Given the description of an element on the screen output the (x, y) to click on. 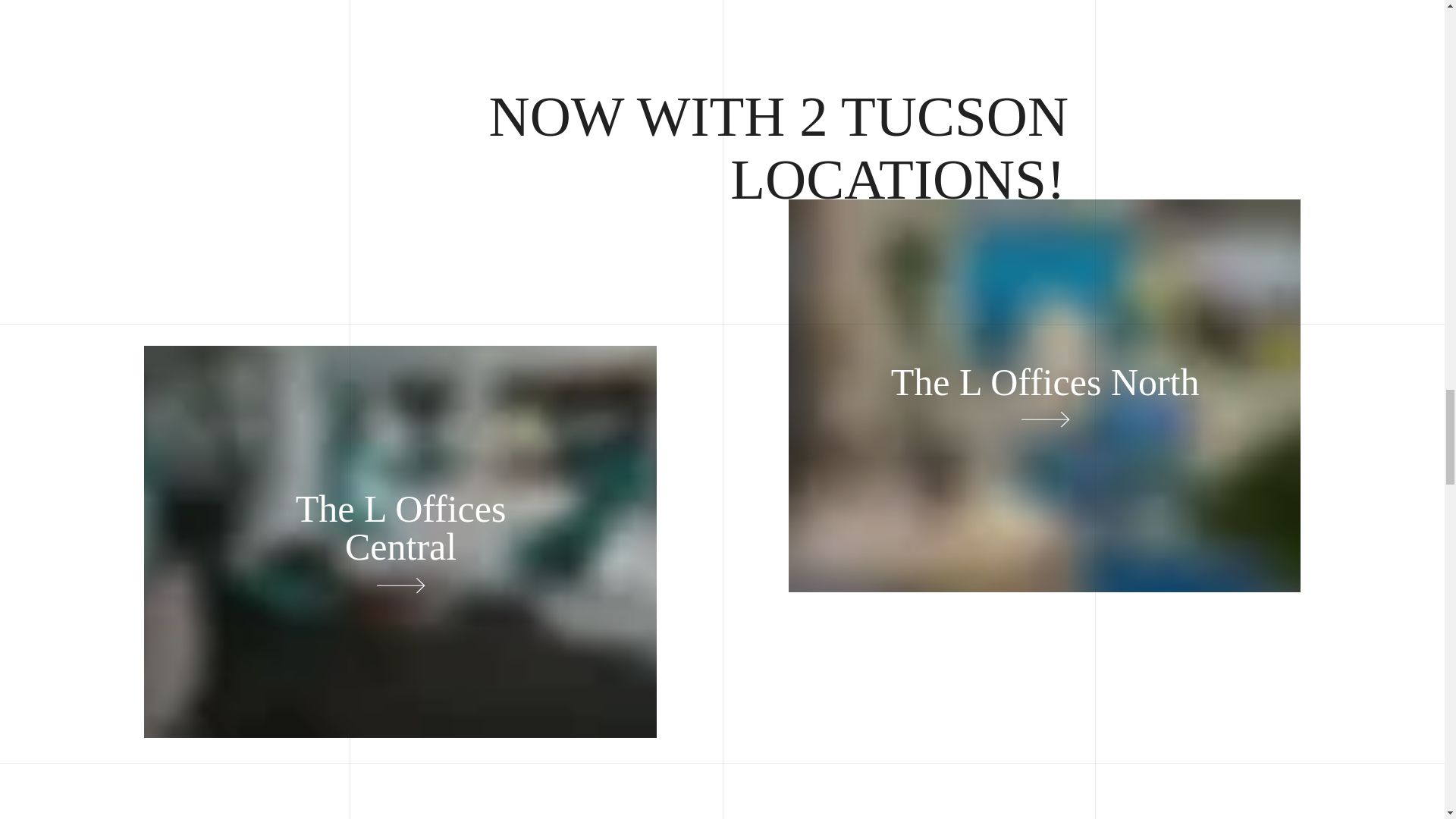
The L Offices North (1045, 382)
